Given the description of an element on the screen output the (x, y) to click on. 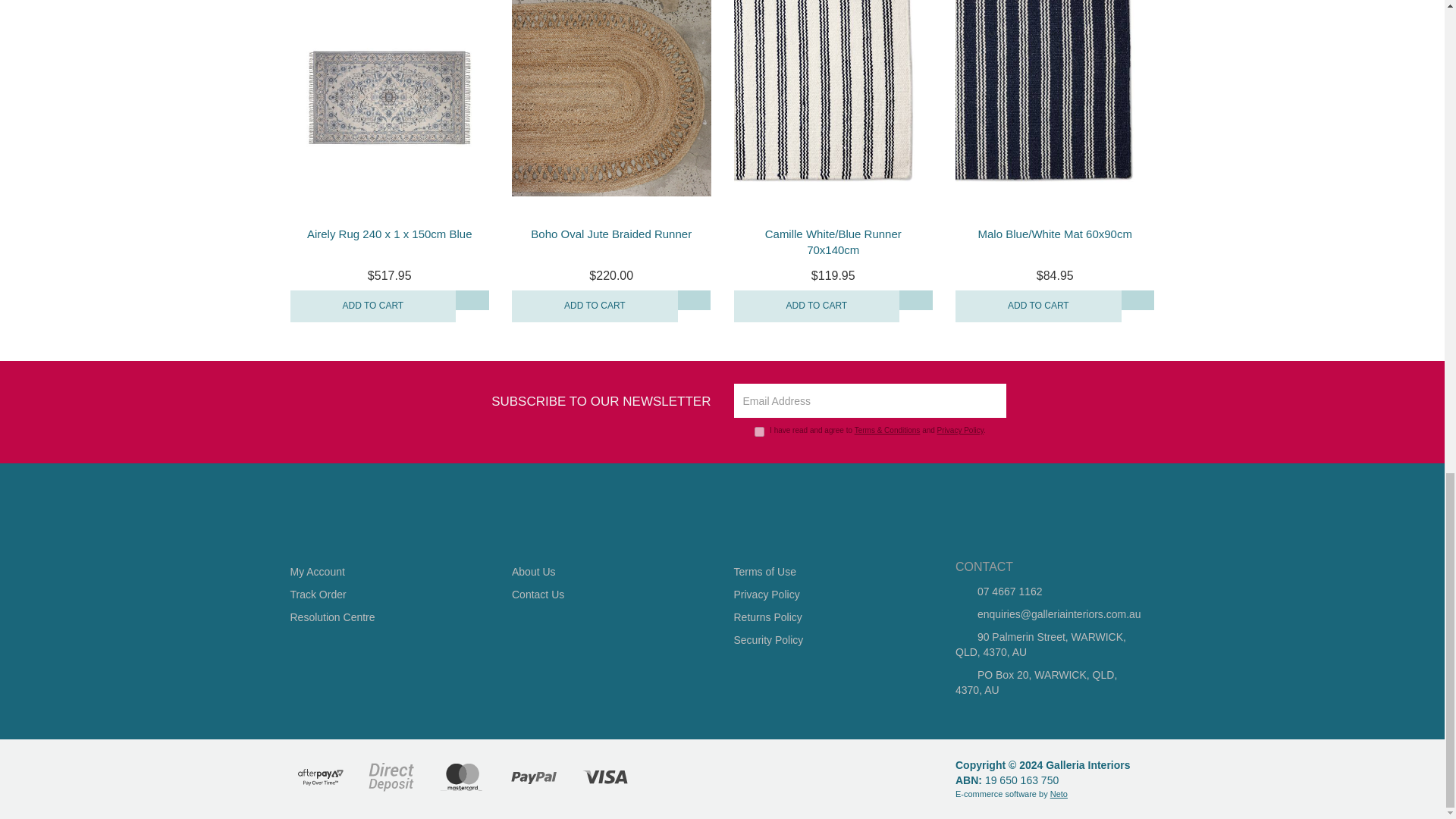
Boho Oval Jute Braided Runner (611, 233)
Add to Cart (1038, 306)
Airely Rug 240 x 1 x 150cm Blue (389, 233)
Add to Cart (595, 306)
y (759, 431)
Add to Cart (816, 306)
Add to Cart (372, 306)
